Given the description of an element on the screen output the (x, y) to click on. 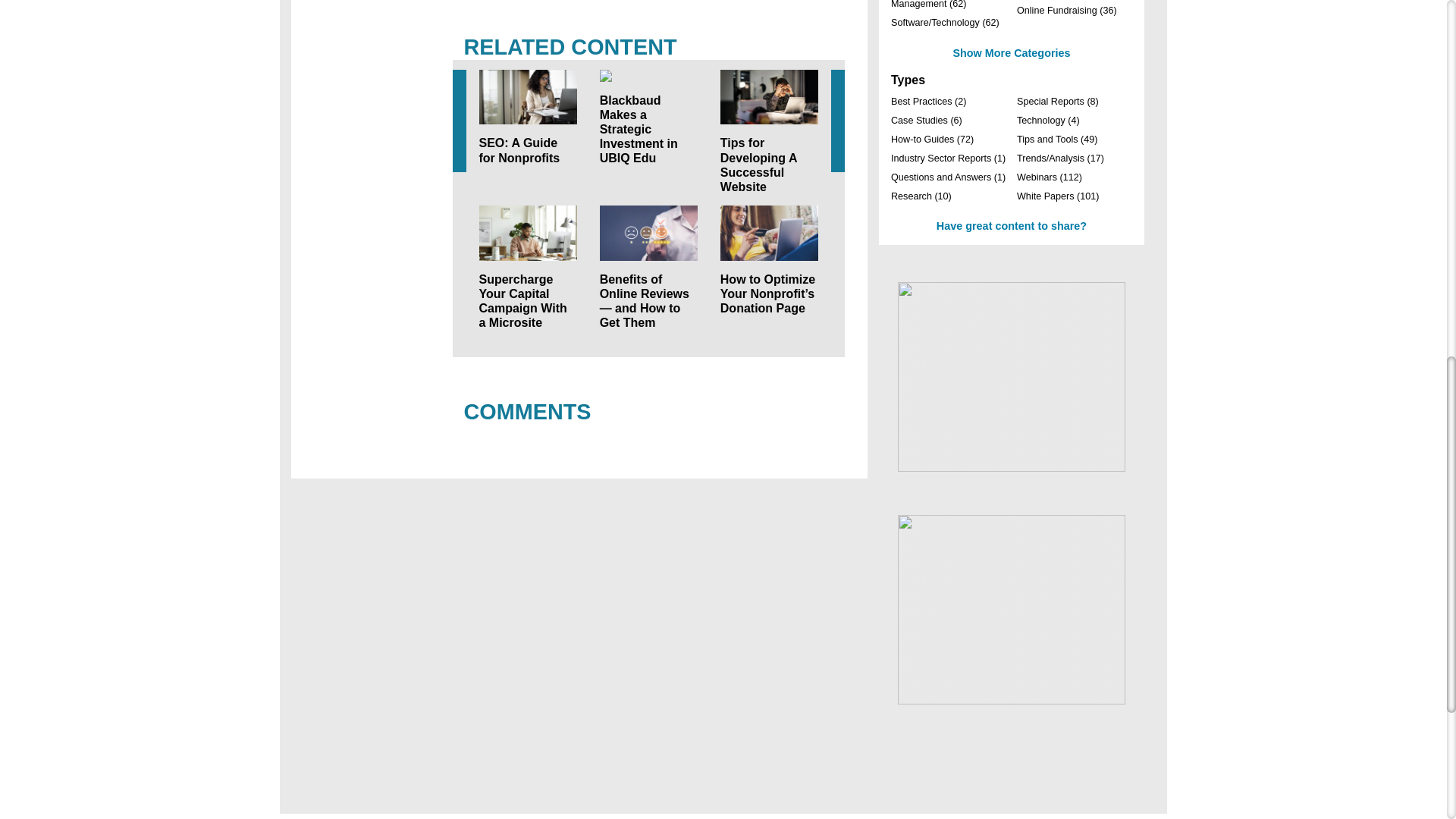
3rd party ad content (1011, 609)
3rd party ad content (1011, 376)
